Given the description of an element on the screen output the (x, y) to click on. 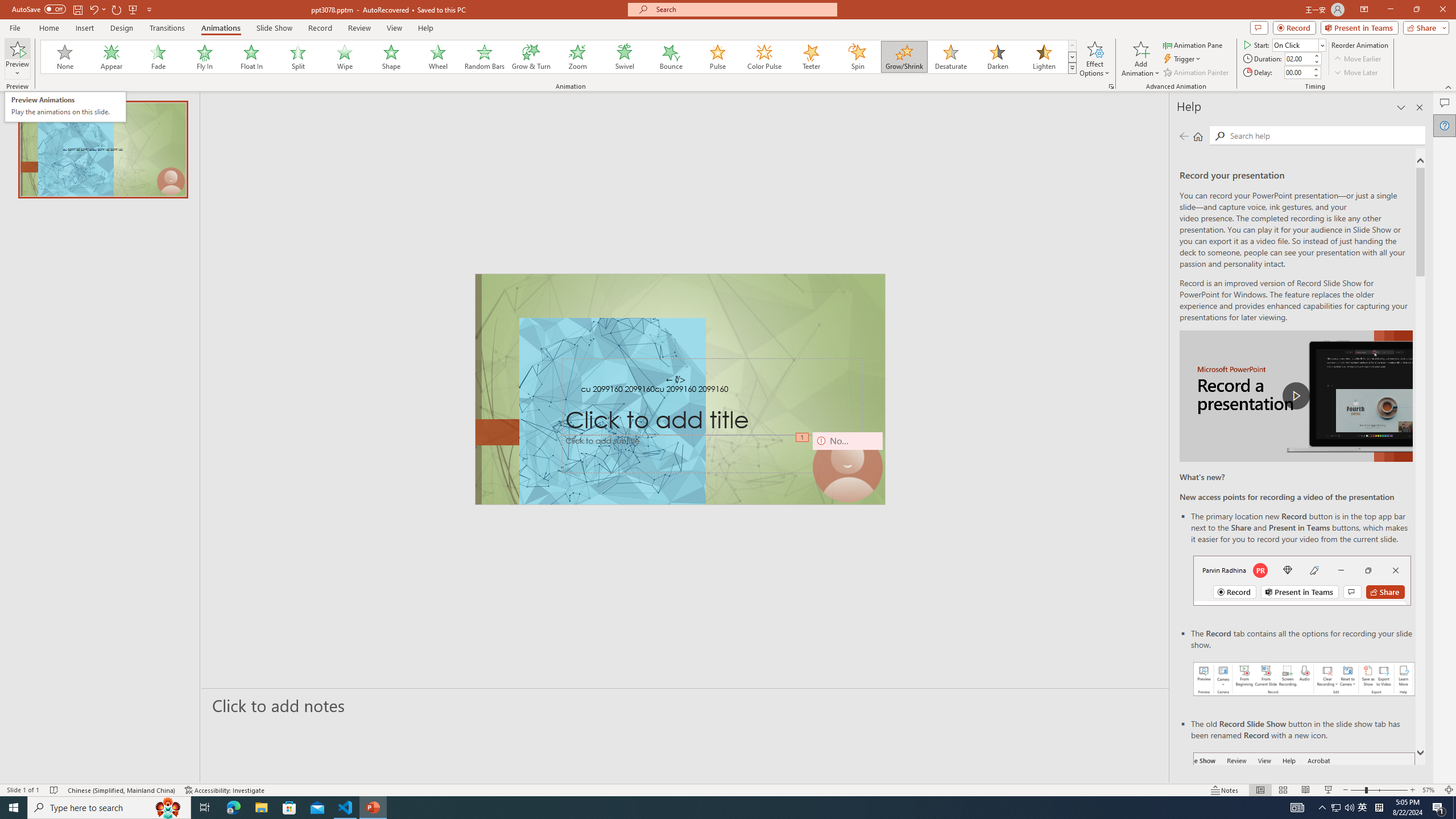
Move Later (1355, 72)
Color Pulse (764, 56)
play Record a Presentation (1296, 395)
More (1315, 69)
